Given the description of an element on the screen output the (x, y) to click on. 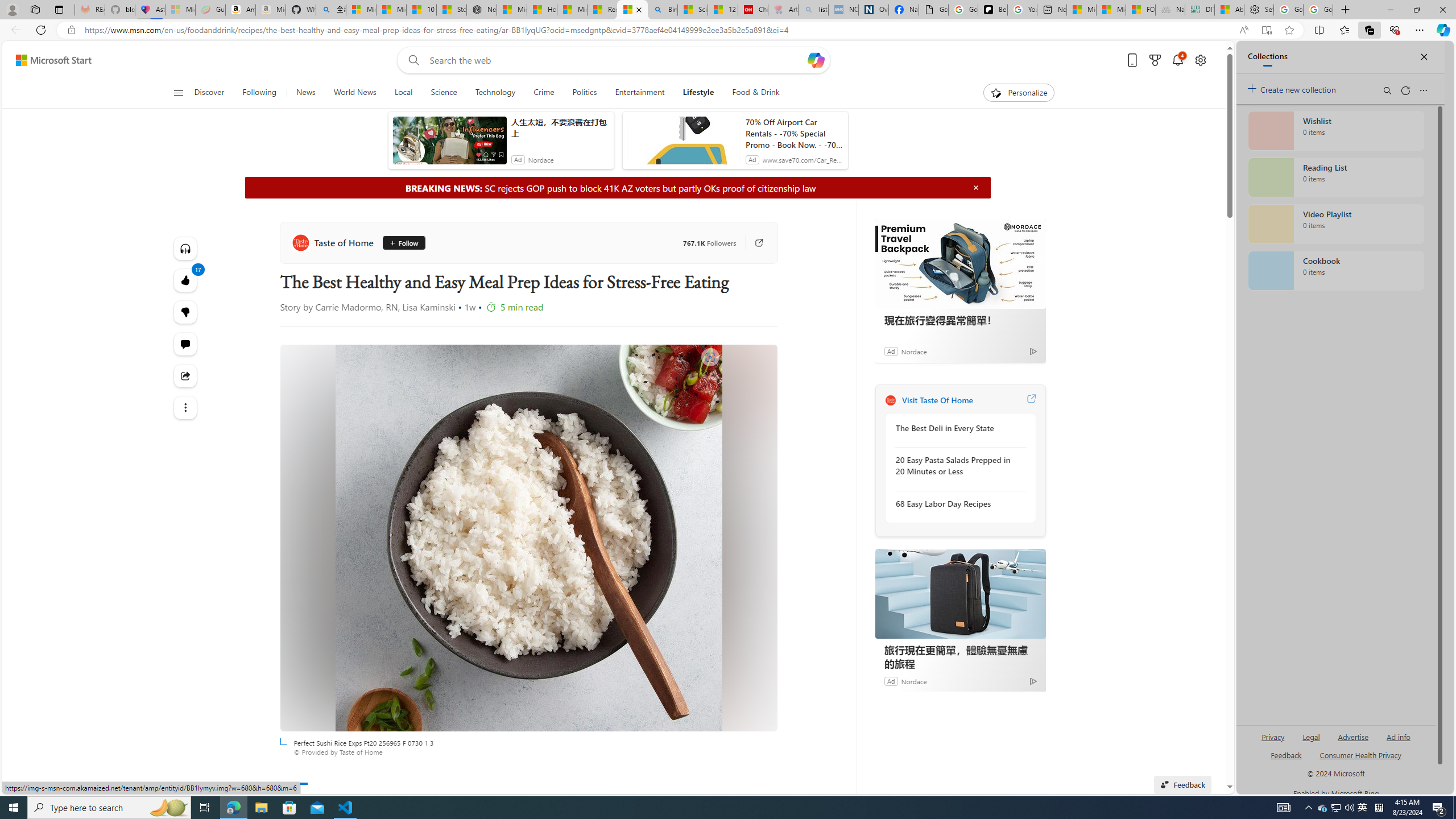
AutomationID: genId96 (1285, 759)
Entertainment (639, 92)
Stocks - MSN (450, 9)
Local (403, 92)
Skip to footer (46, 59)
Recipes - MSN (601, 9)
